Given the description of an element on the screen output the (x, y) to click on. 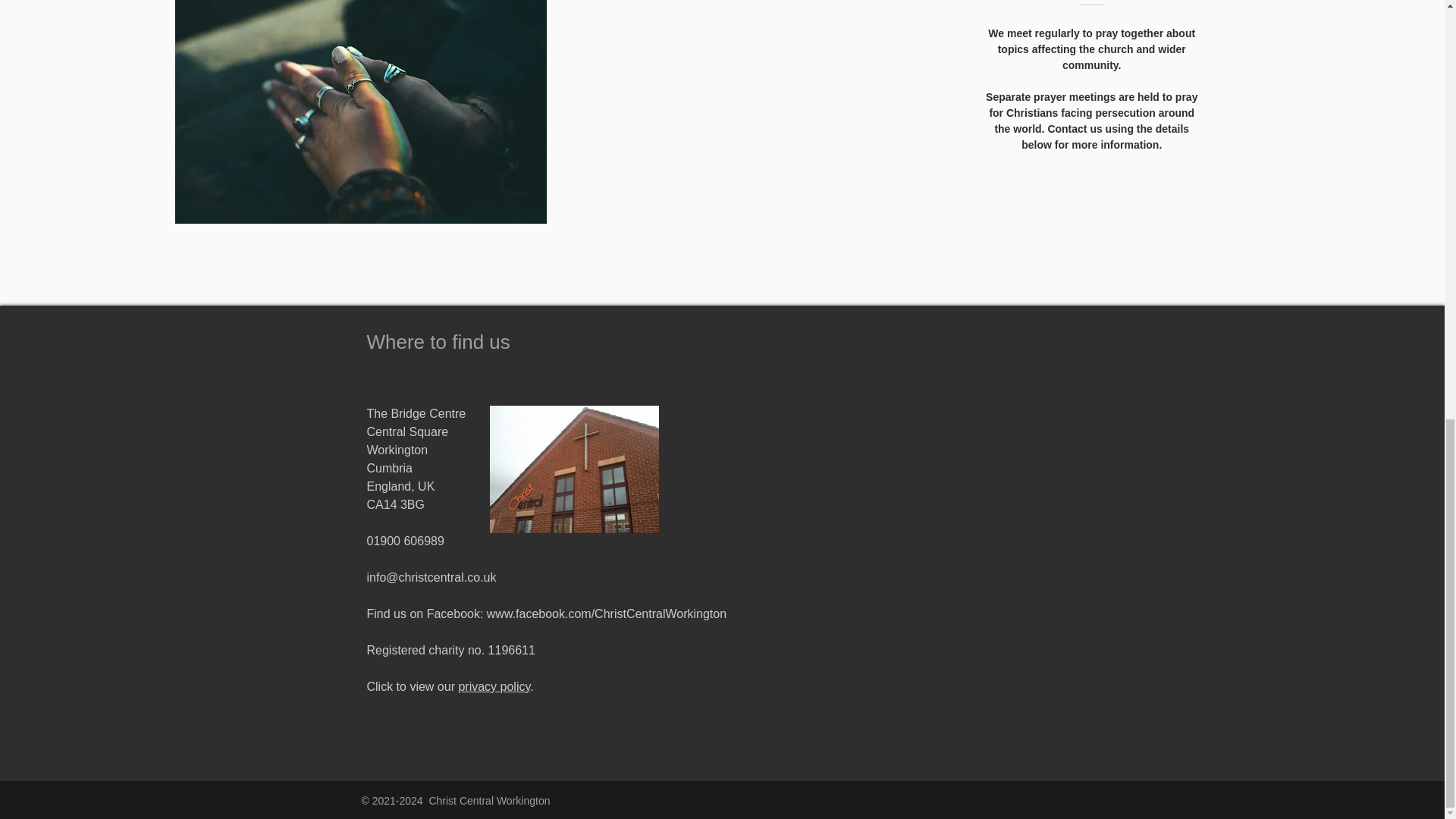
Image by Michael Heuss (360, 111)
Bridge Centre.jpg (574, 469)
privacy policy (493, 686)
